Given the description of an element on the screen output the (x, y) to click on. 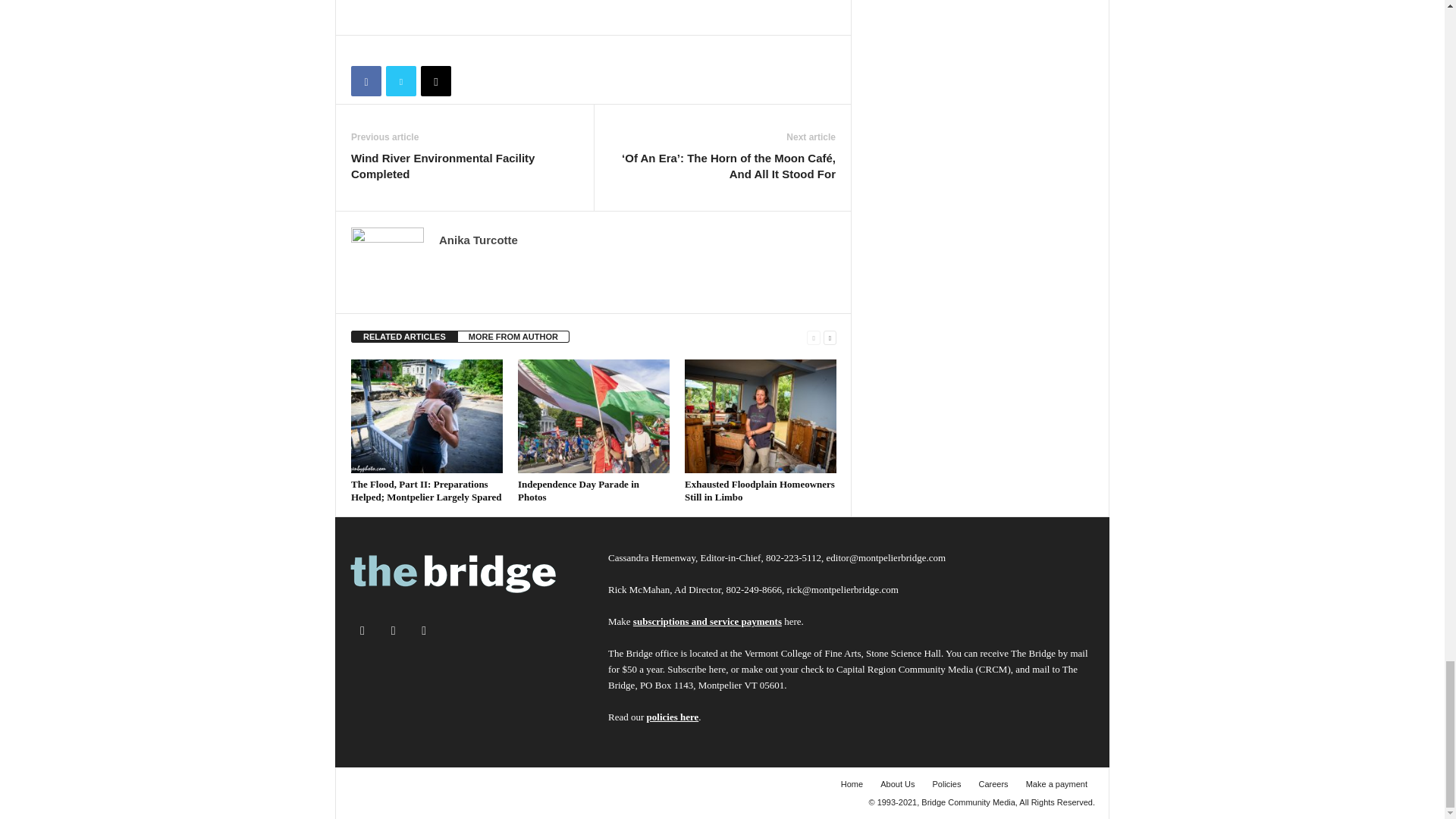
3rd party ad content (627, 9)
Independence Day Parade in Photos (578, 490)
Independence Day Parade in Photos (593, 416)
